Given the description of an element on the screen output the (x, y) to click on. 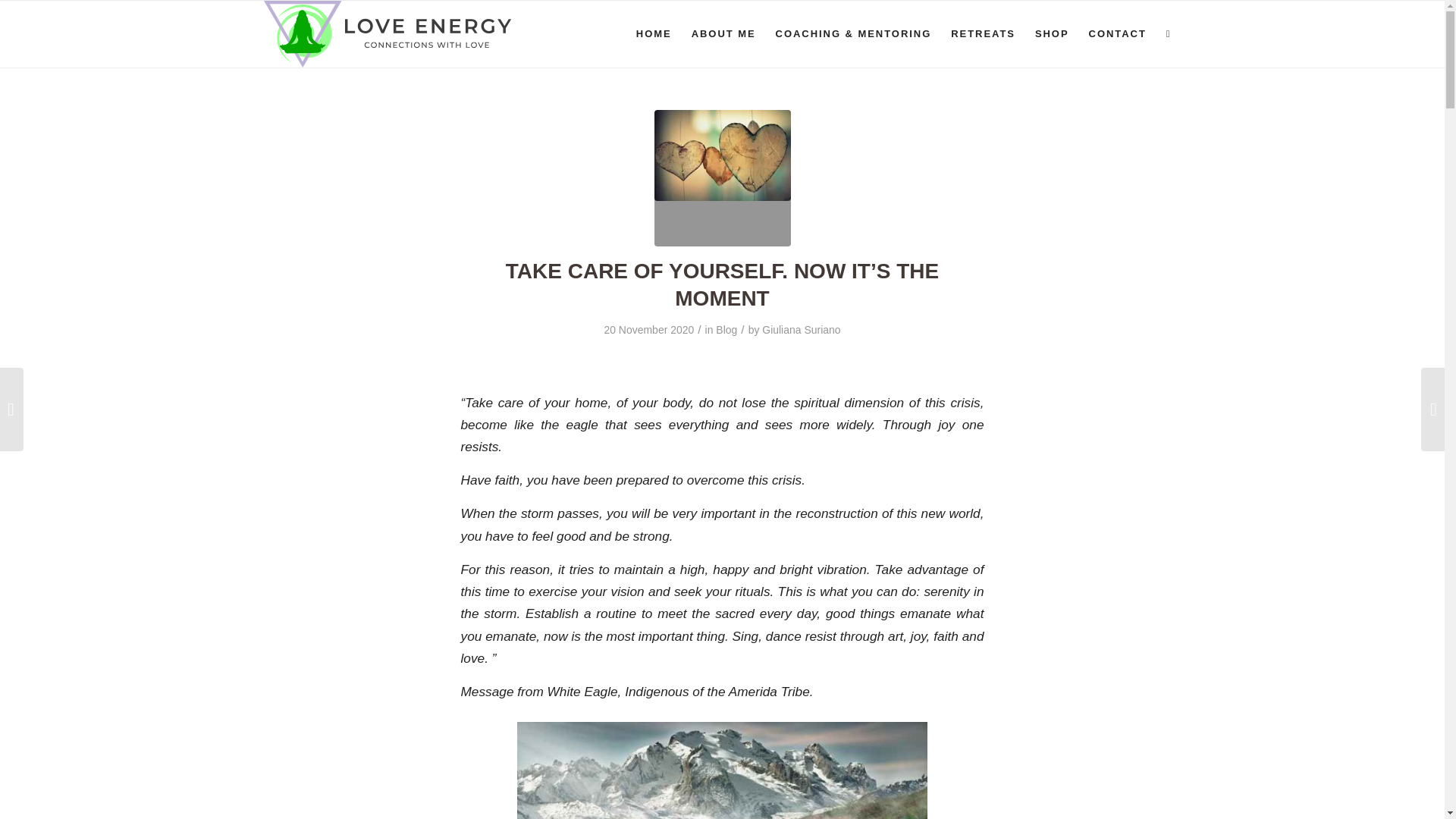
Posts by Giuliana Suriano (800, 329)
Blog (726, 329)
CONTACT (1117, 33)
RETREATS (982, 33)
Giuliana Suriano (800, 329)
ABOUT ME (723, 33)
